Given the description of an element on the screen output the (x, y) to click on. 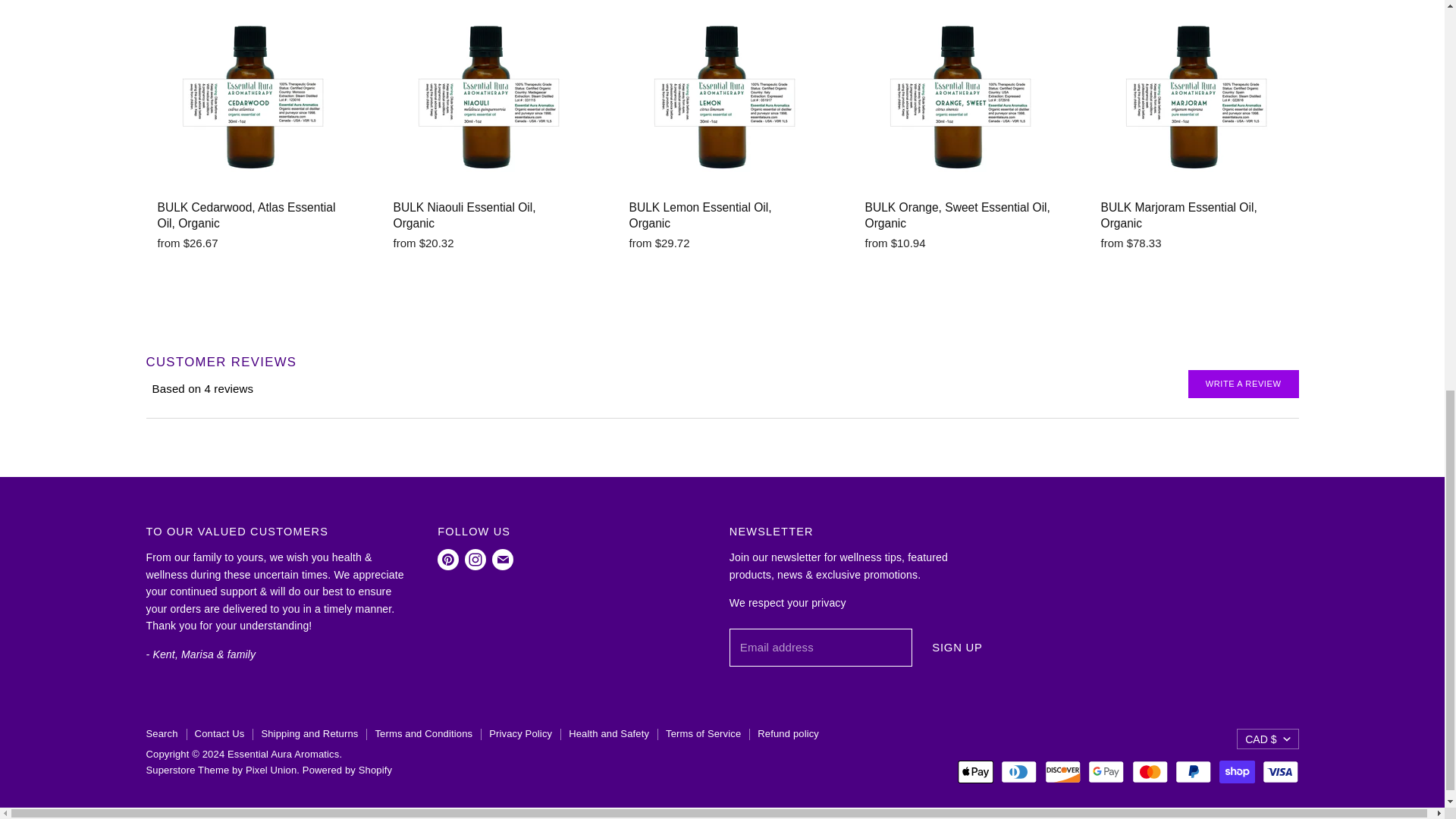
E-mail (502, 559)
Pinterest (447, 559)
Instagram (475, 559)
